Given the description of an element on the screen output the (x, y) to click on. 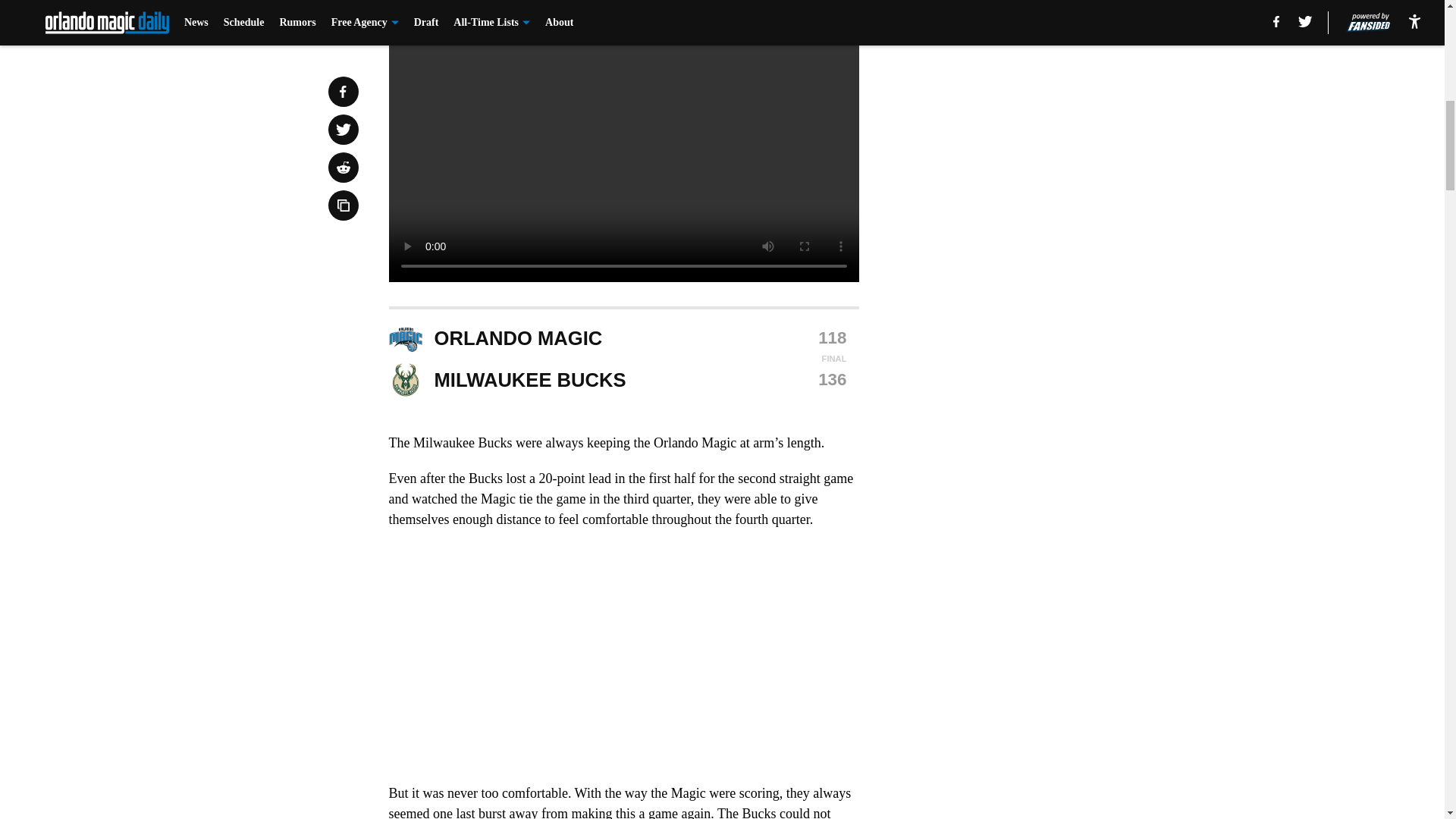
3rd party ad content (1047, 113)
3rd party ad content (1047, 332)
